Given the description of an element on the screen output the (x, y) to click on. 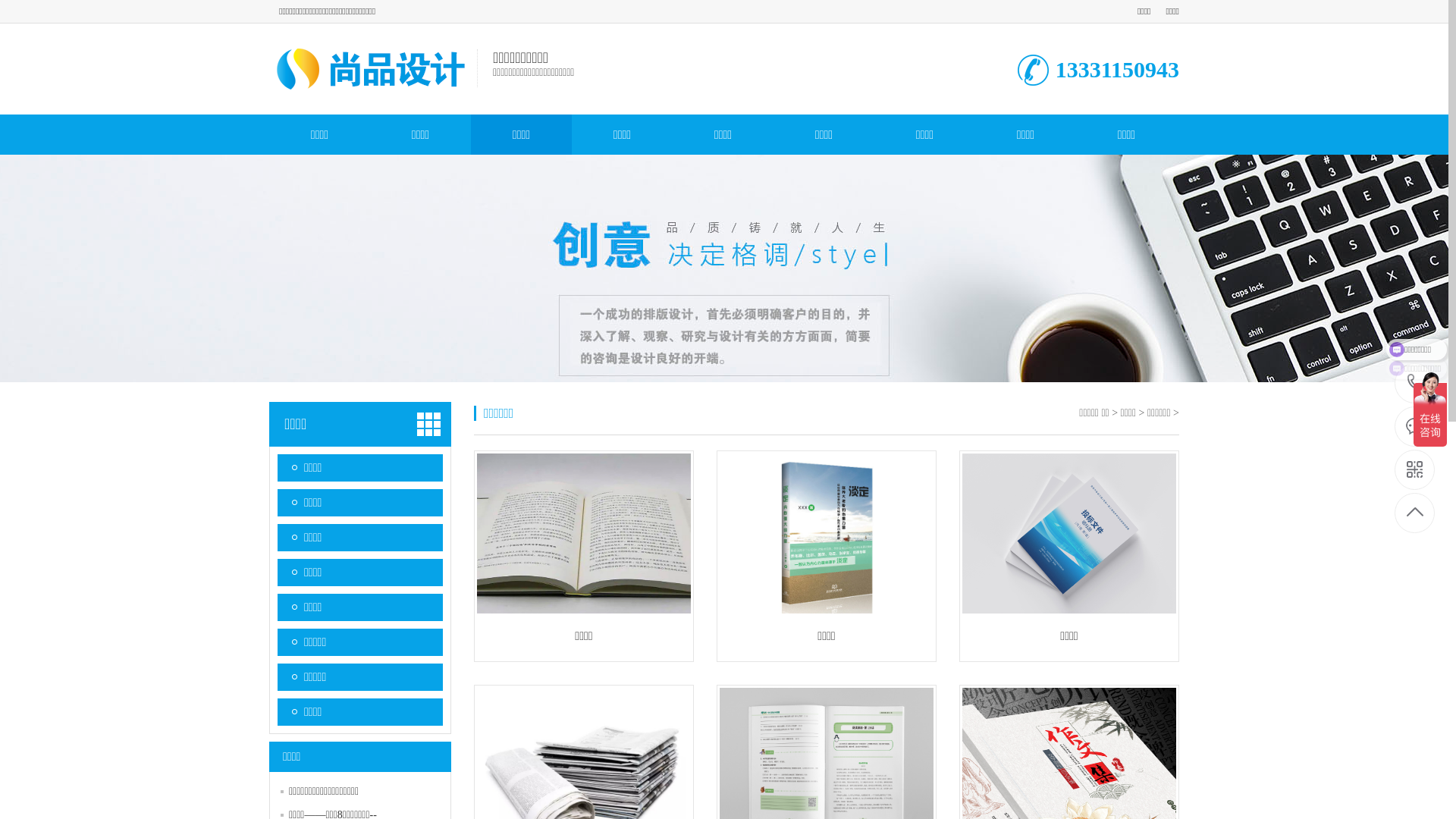
13331150943 Element type: text (1415, 383)
